Given the description of an element on the screen output the (x, y) to click on. 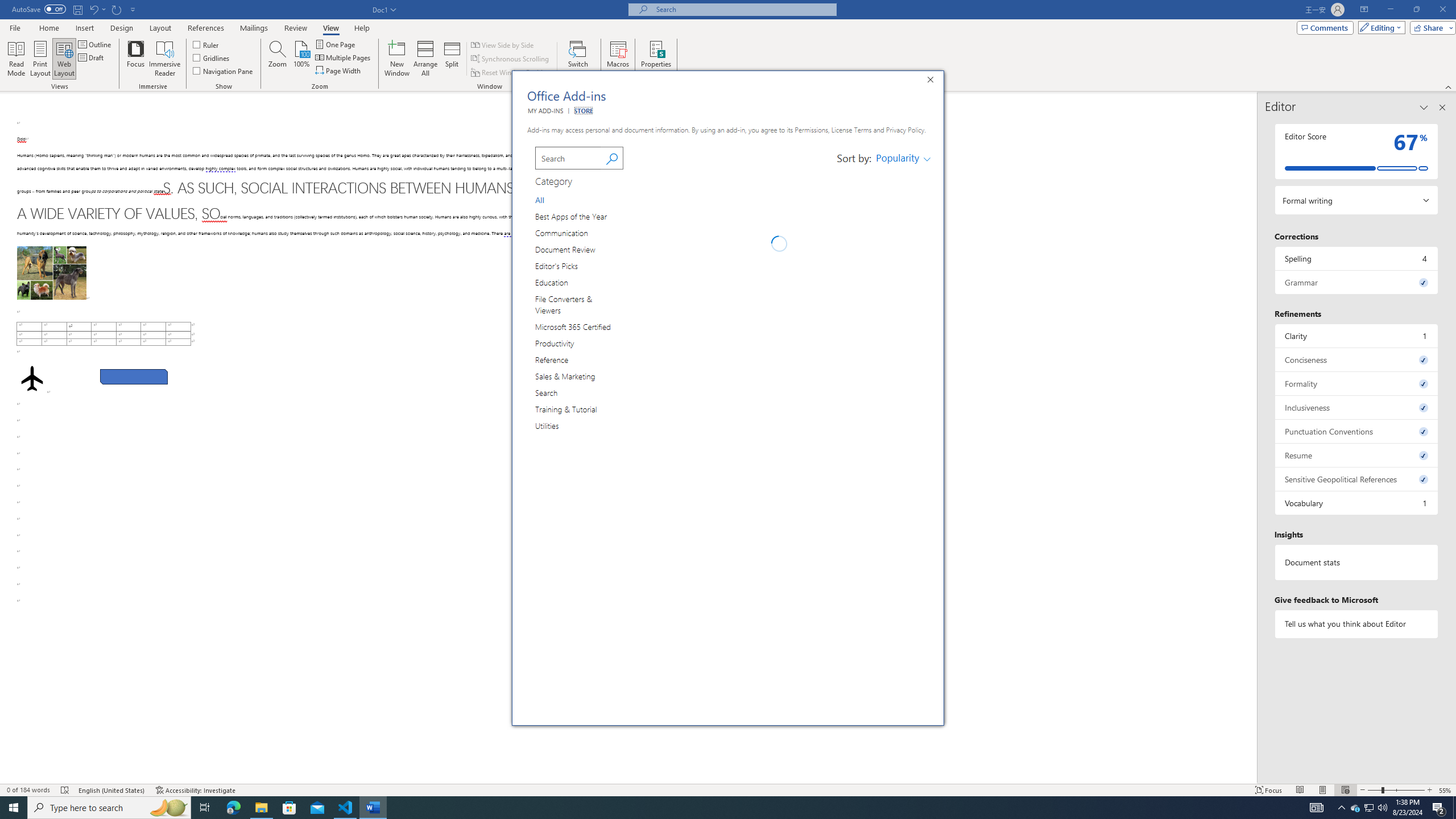
Add Docusign for Word (902, 496)
Airplane with solid fill (31, 378)
STORE (582, 110)
Pickit | Make impactful presentations in minutes icon (646, 196)
Editor Score 67% (1356, 151)
Category Group Document Review 4 of 14 (567, 249)
Draft (91, 56)
One Page (335, 44)
